Given the description of an element on the screen output the (x, y) to click on. 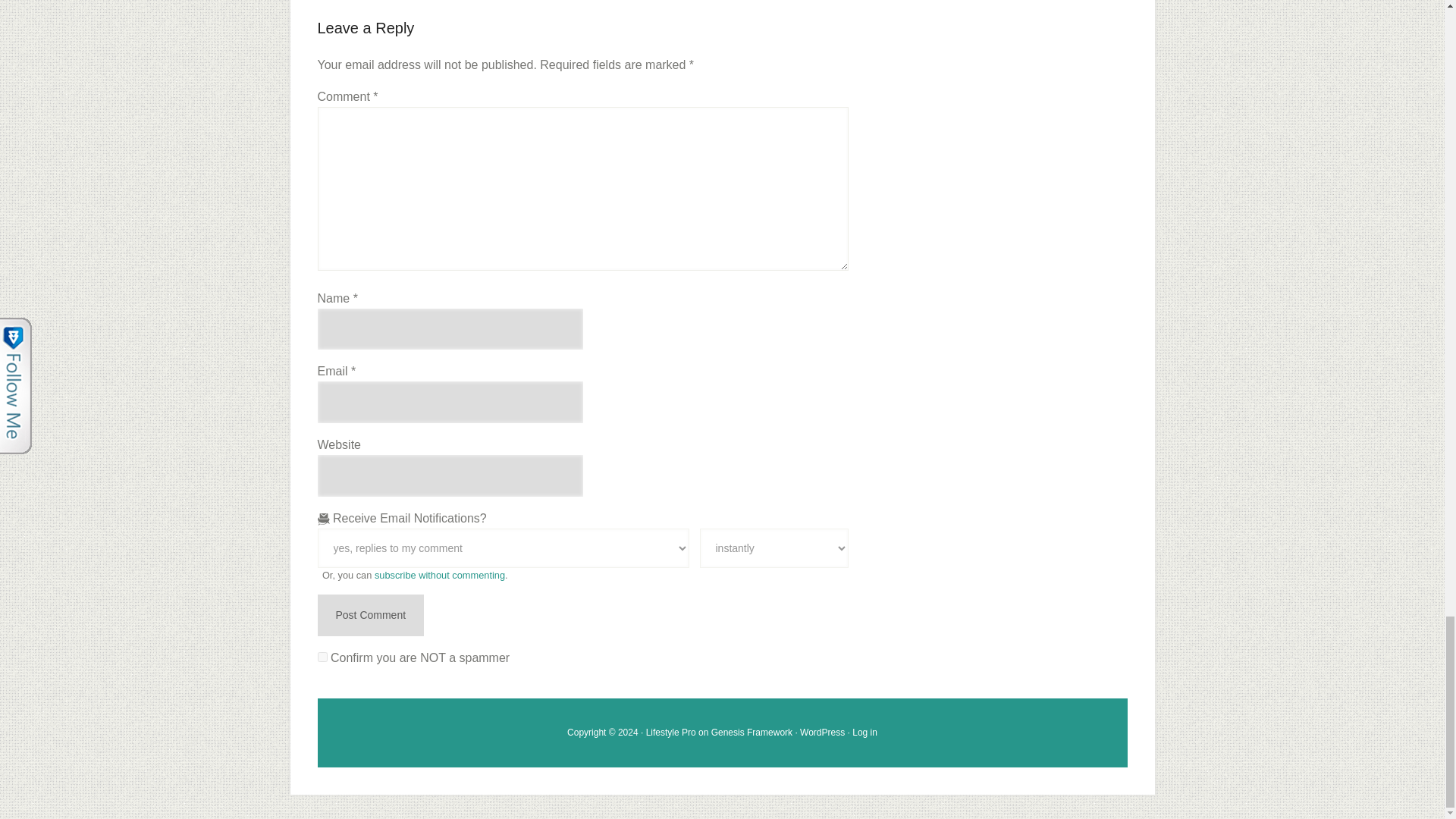
Lifestyle Pro (670, 732)
Notify Me (772, 548)
on (321, 656)
WordPress (821, 732)
Receive Notifications? (502, 548)
Genesis Framework (751, 732)
Post Comment (370, 615)
Post Comment (370, 615)
subscribe without commenting (439, 574)
